Given the description of an element on the screen output the (x, y) to click on. 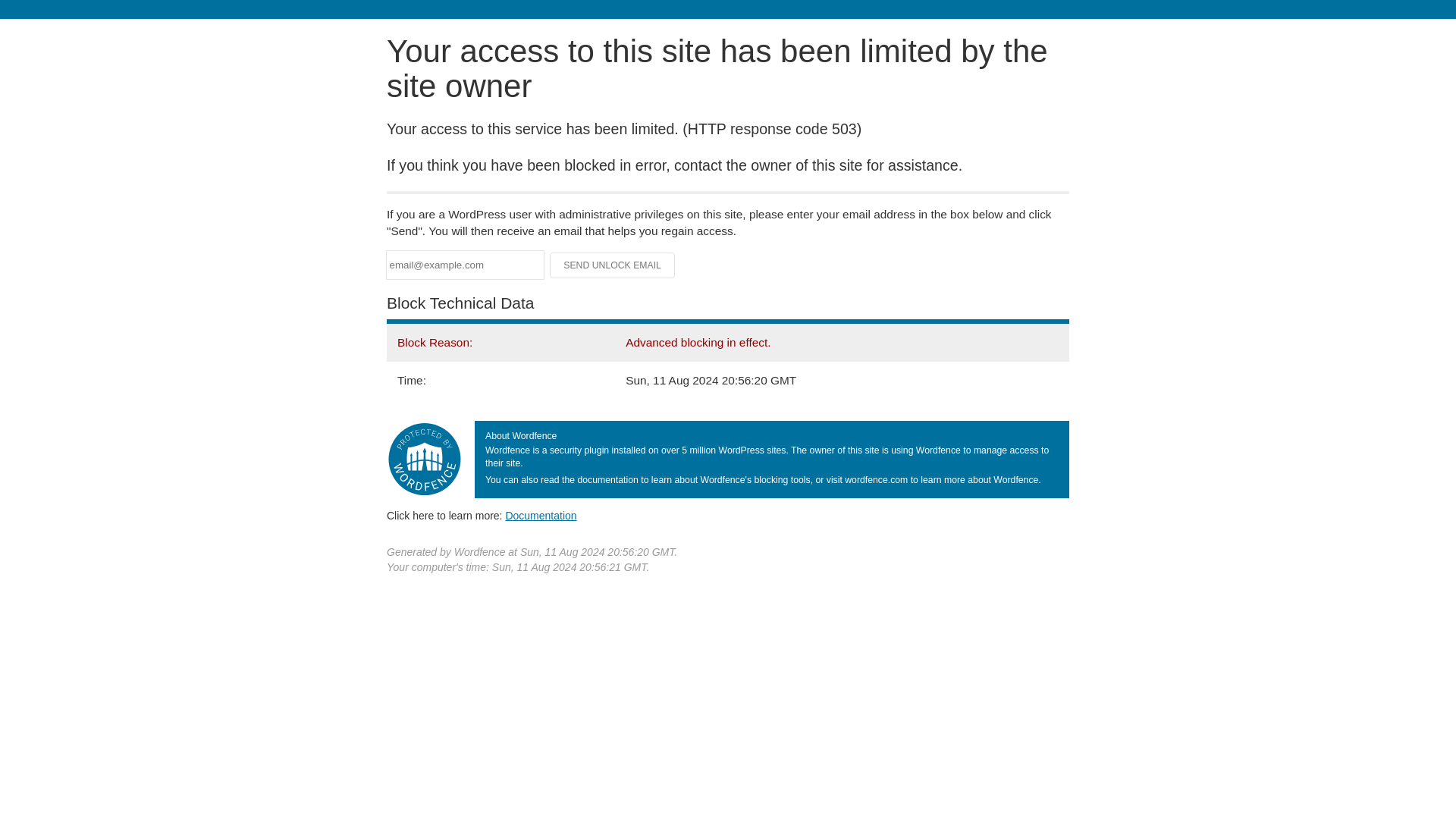
Documentation (540, 515)
Send Unlock Email (612, 265)
Send Unlock Email (612, 265)
